Given the description of an element on the screen output the (x, y) to click on. 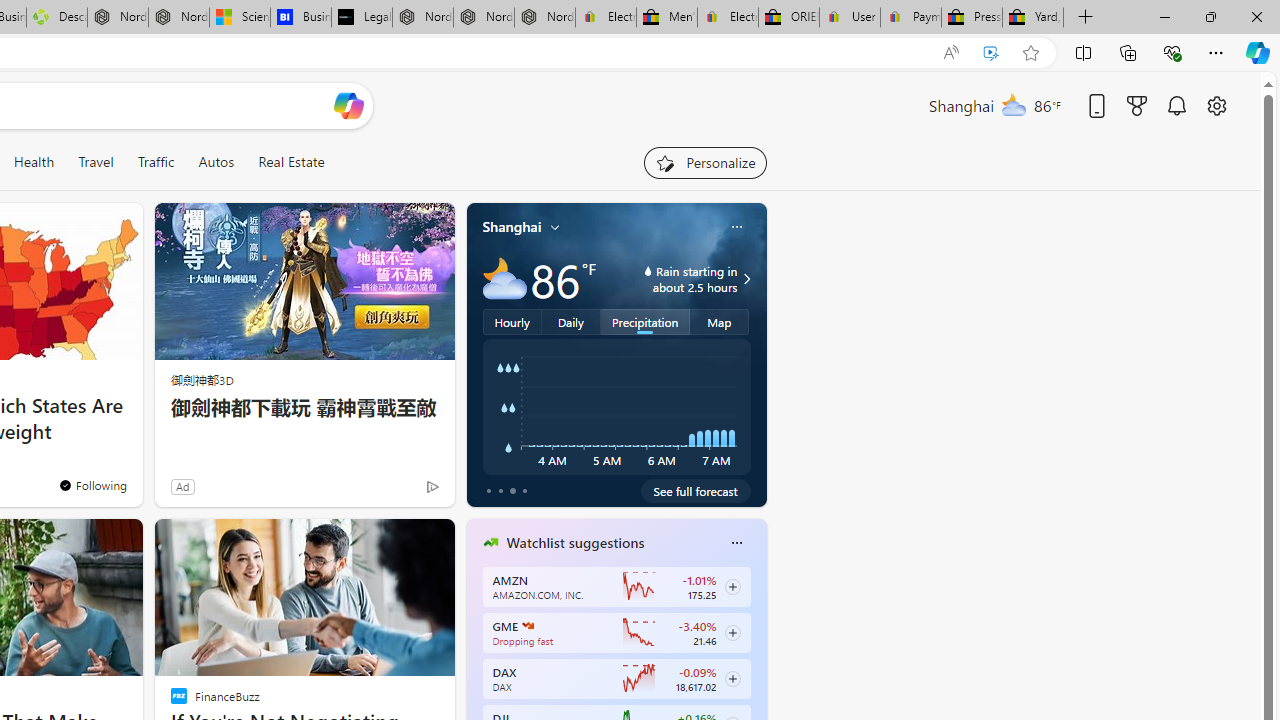
Autos (215, 161)
Class: weather-arrow-glyph (746, 278)
User Privacy Notice | eBay (850, 17)
Watchlist suggestions (575, 543)
next (756, 670)
Payments Terms of Use | eBay.com (910, 17)
You're following The Weather Channel (390, 490)
